Given the description of an element on the screen output the (x, y) to click on. 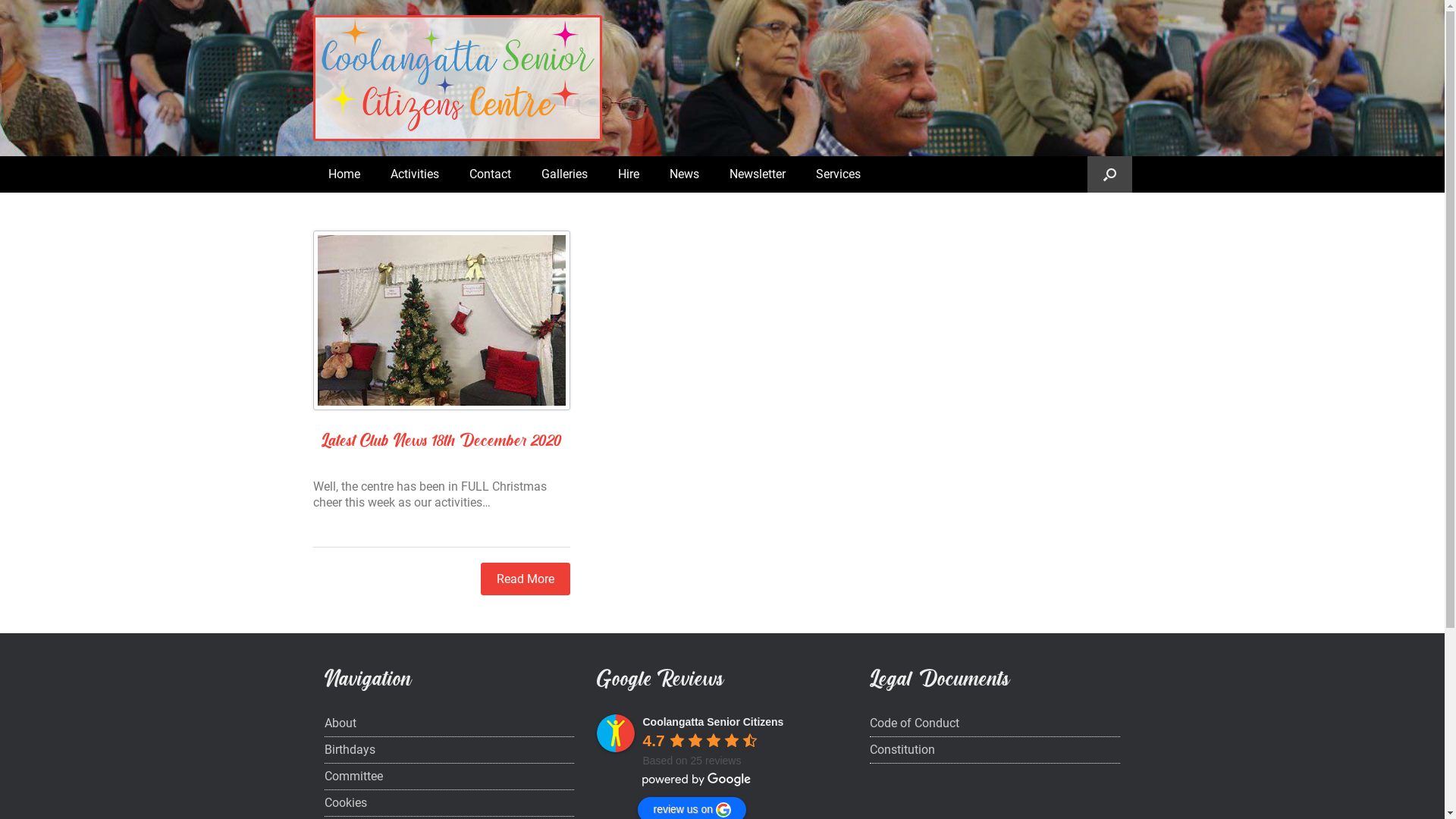
Newsletter Element type: text (757, 174)
Activities Element type: text (413, 174)
Services Element type: text (837, 174)
Birthdays Element type: text (449, 751)
Constitution Element type: text (994, 751)
Hire Element type: text (627, 174)
Read More Element type: text (525, 579)
Contact Element type: text (489, 174)
Code of Conduct Element type: text (994, 725)
News Element type: text (683, 174)
Cookies Element type: text (449, 804)
About Element type: text (449, 725)
Galleries Element type: text (564, 174)
Coolangatta Senior Citizens Element type: text (712, 721)
Home Element type: text (343, 174)
Latest Club News 18th December 2020 Element type: text (441, 438)
Committee Element type: text (449, 778)
